Given the description of an element on the screen output the (x, y) to click on. 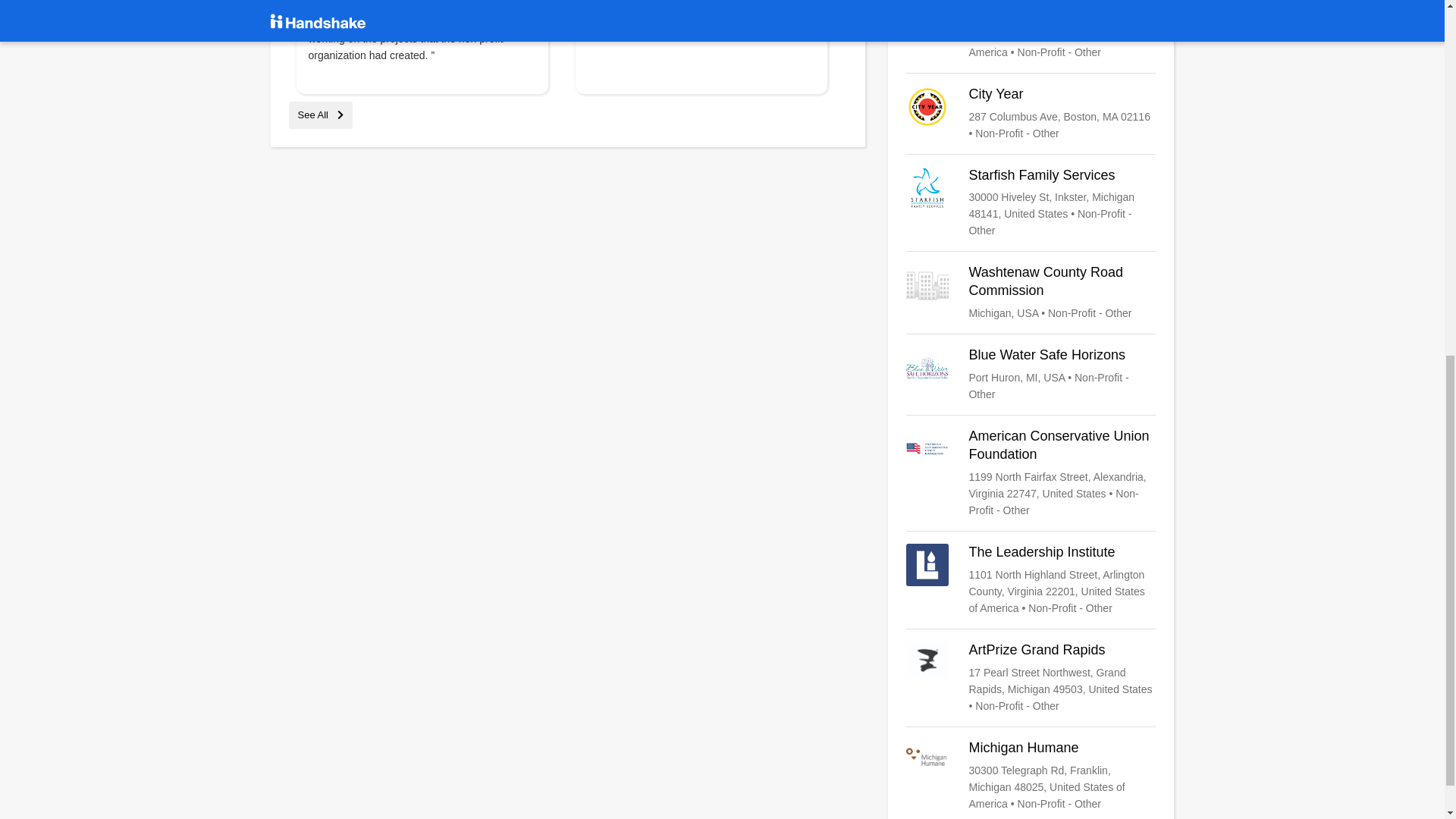
ArtPrize Grand Rapids (1030, 677)
Starfish Family Services (1030, 203)
American Conservative Union Foundation (1030, 472)
Michigan Humane (1030, 775)
The Leadership Institute (1030, 579)
See All (320, 114)
Mackinac Center for Public Policy (1030, 30)
Washtenaw County Road Commission (1030, 292)
City Year (1030, 113)
Blue Water Safe Horizons (1030, 374)
